Given the description of an element on the screen output the (x, y) to click on. 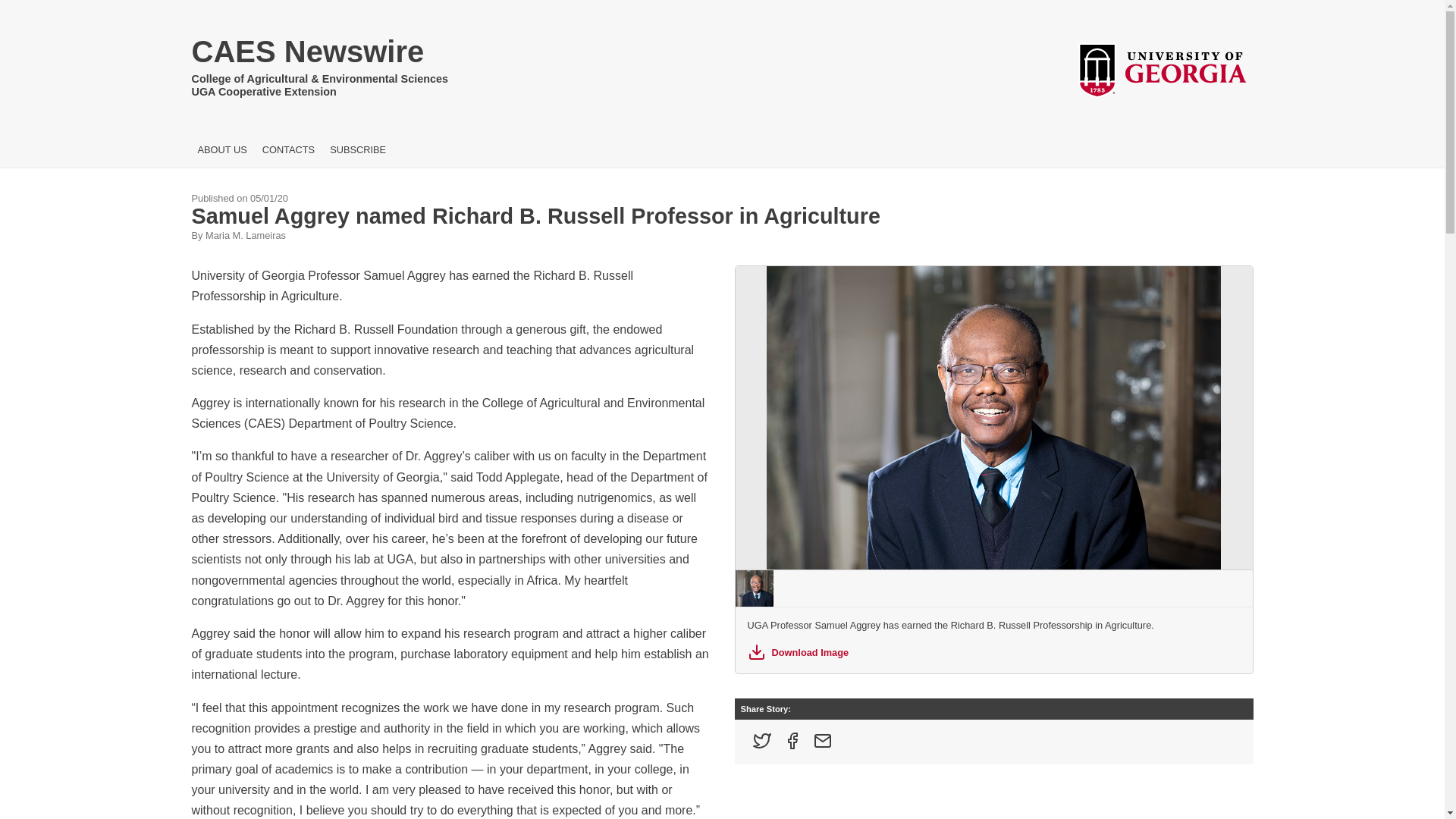
CONTACTS (288, 149)
Download Image (994, 651)
ABOUT US (221, 149)
SUBSCRIBE (357, 149)
UGA Cooperative Extension (319, 91)
CAES Newswire (319, 54)
